Given the description of an element on the screen output the (x, y) to click on. 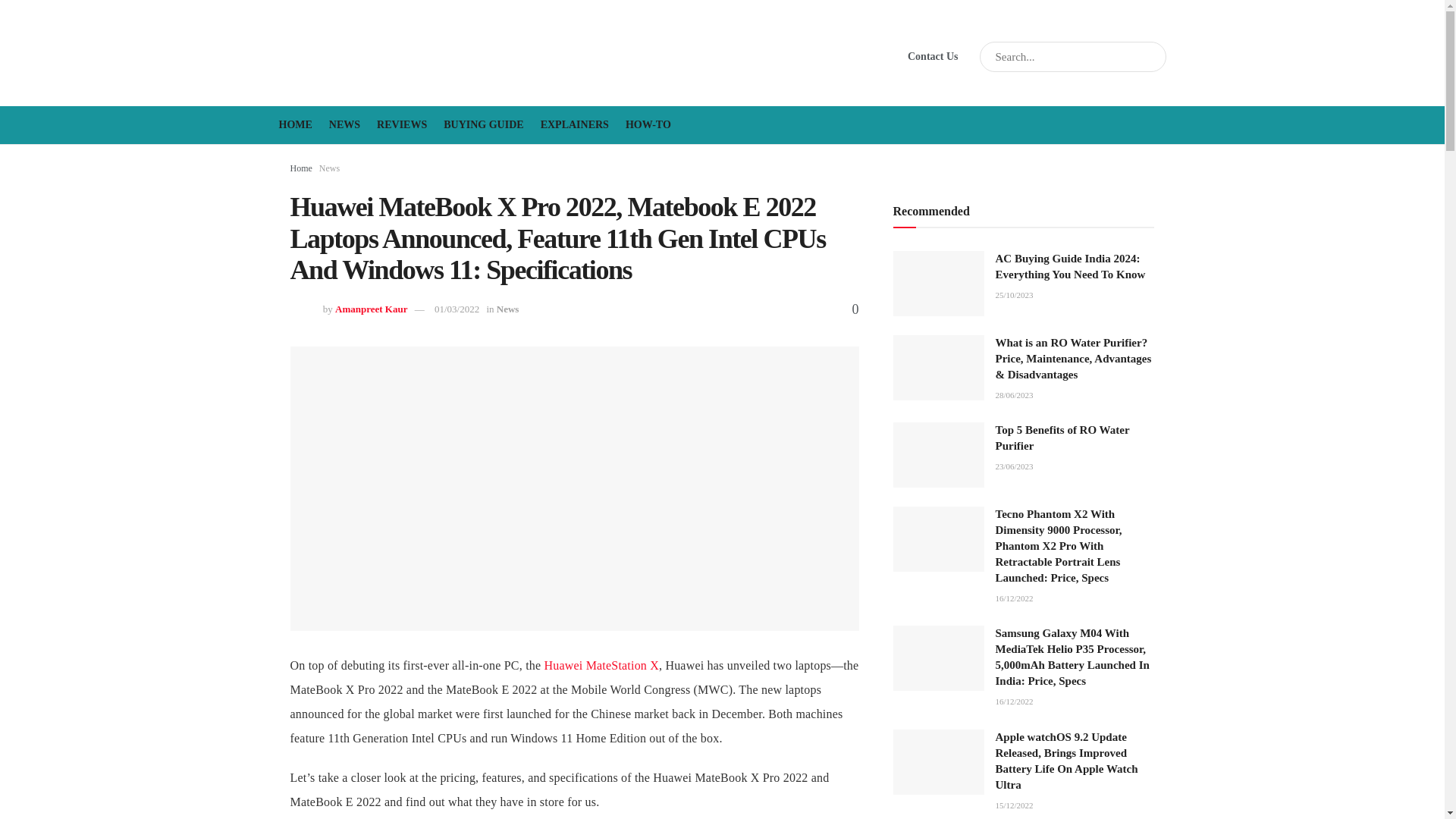
Huawei MateStation X (601, 665)
REVIEWS (401, 124)
News (328, 167)
News (507, 308)
Amanpreet Kaur (370, 308)
HOME (296, 124)
Home (300, 167)
Contact Us (932, 56)
BUYING GUIDE (483, 124)
NEWS (344, 124)
HOW-TO (648, 124)
EXPLAINERS (574, 124)
